Given the description of an element on the screen output the (x, y) to click on. 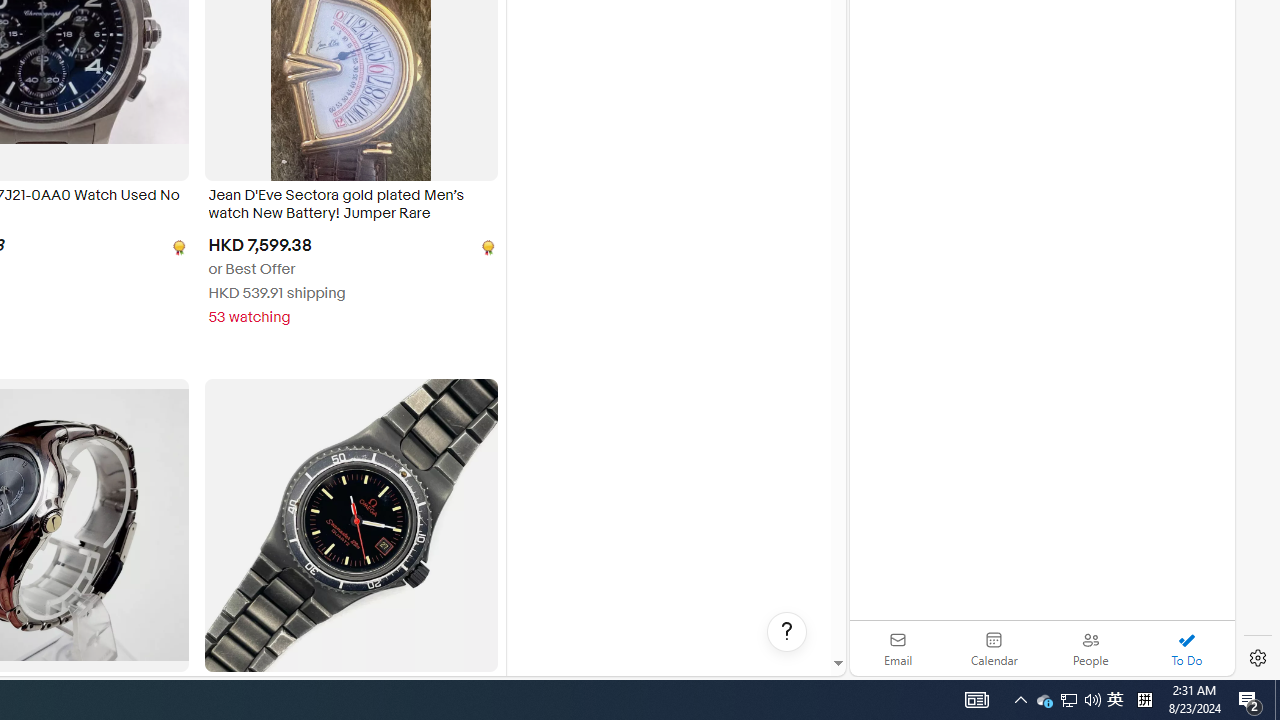
[object Undefined] (486, 246)
To Do (1186, 648)
Help, opens dialogs (787, 632)
Calendar. Date today is 22 (994, 648)
Email (898, 648)
People (1090, 648)
